Given the description of an element on the screen output the (x, y) to click on. 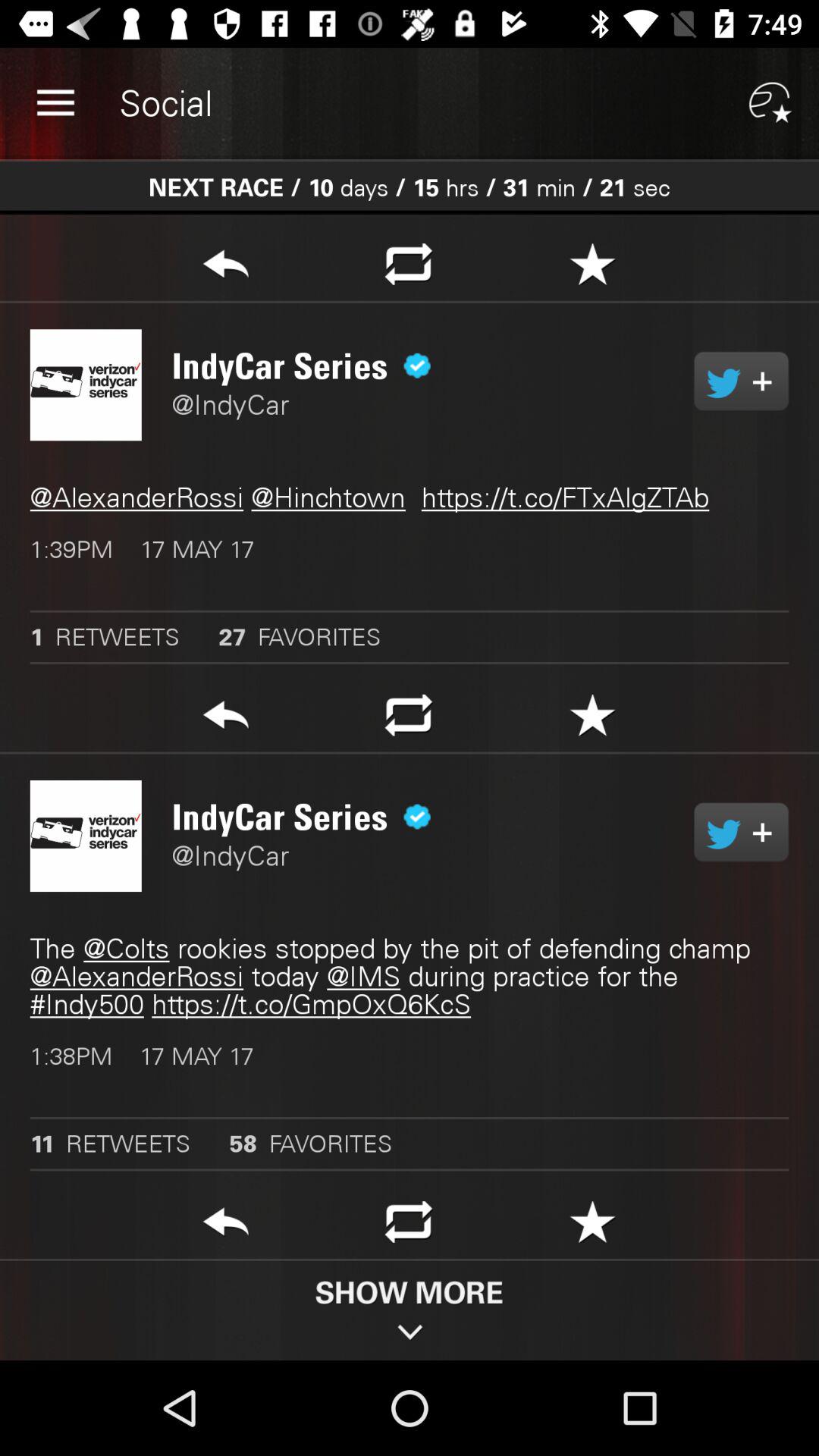
retweet (740, 380)
